Given the description of an element on the screen output the (x, y) to click on. 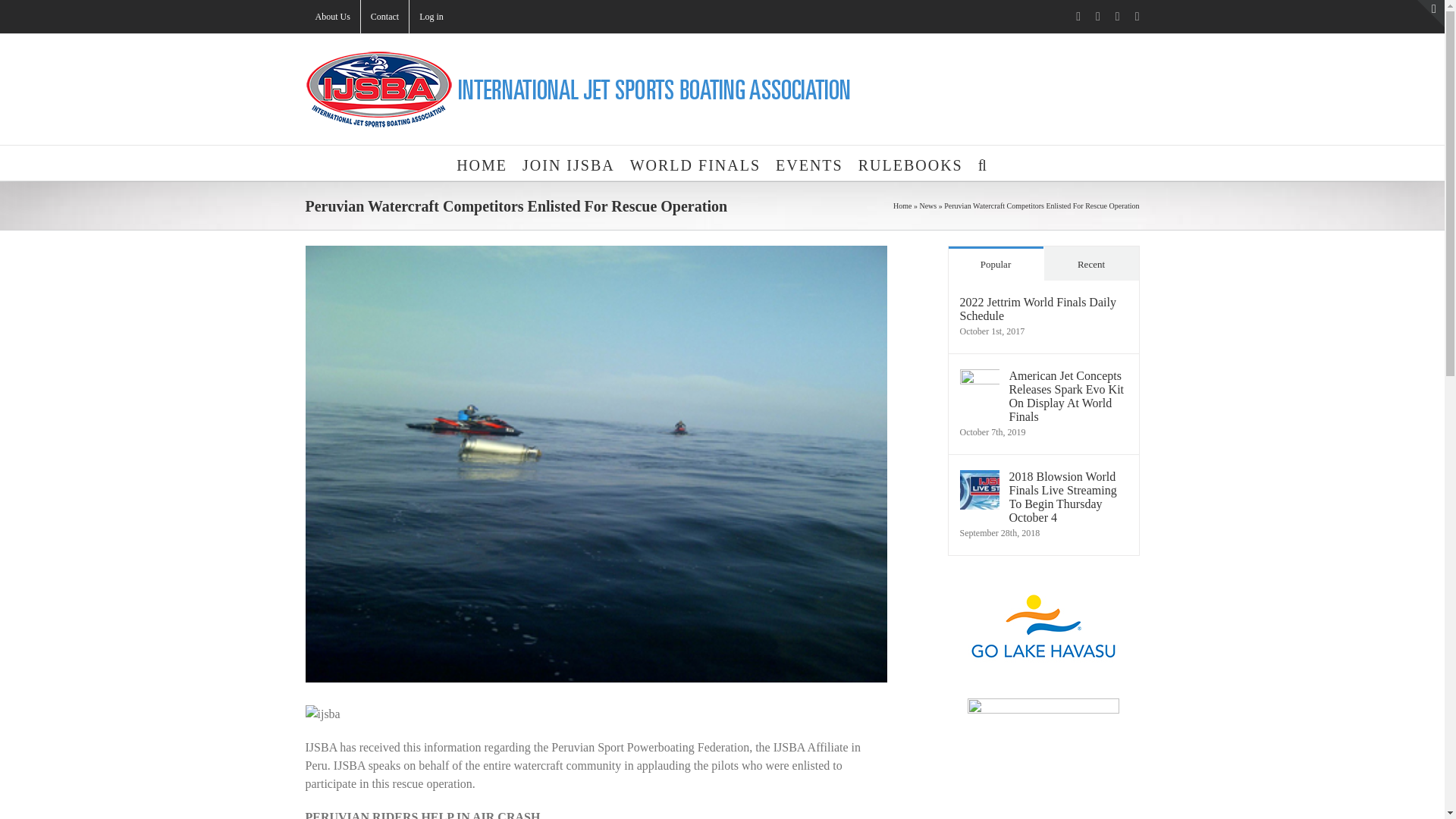
Home (902, 205)
HOME (481, 162)
About Us (331, 16)
Log in (430, 16)
Contact (385, 16)
WORLD FINALS (695, 162)
RULEBOOKS (910, 162)
News (927, 205)
EVENTS (809, 162)
